Given the description of an element on the screen output the (x, y) to click on. 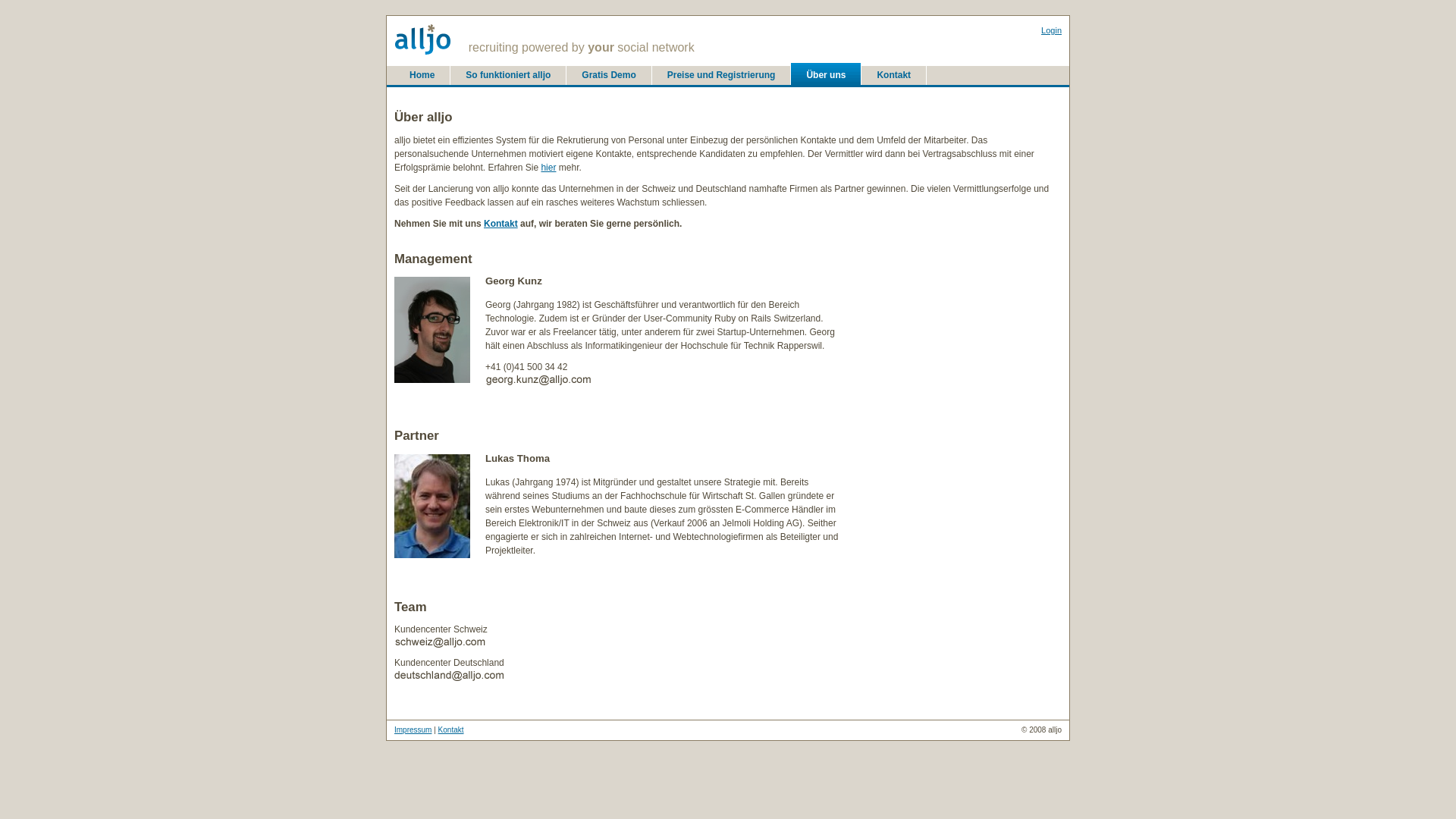
Gratis Demo Element type: text (608, 74)
Kontakt Element type: text (451, 729)
Kontakt Element type: text (893, 74)
Preise und Registrierung Element type: text (721, 74)
Kontakt Element type: text (500, 223)
Impressum Element type: text (412, 729)
Login Element type: text (1051, 30)
hier Element type: text (547, 167)
So funktioniert alljo Element type: text (507, 74)
Home Element type: text (421, 74)
